Given the description of an element on the screen output the (x, y) to click on. 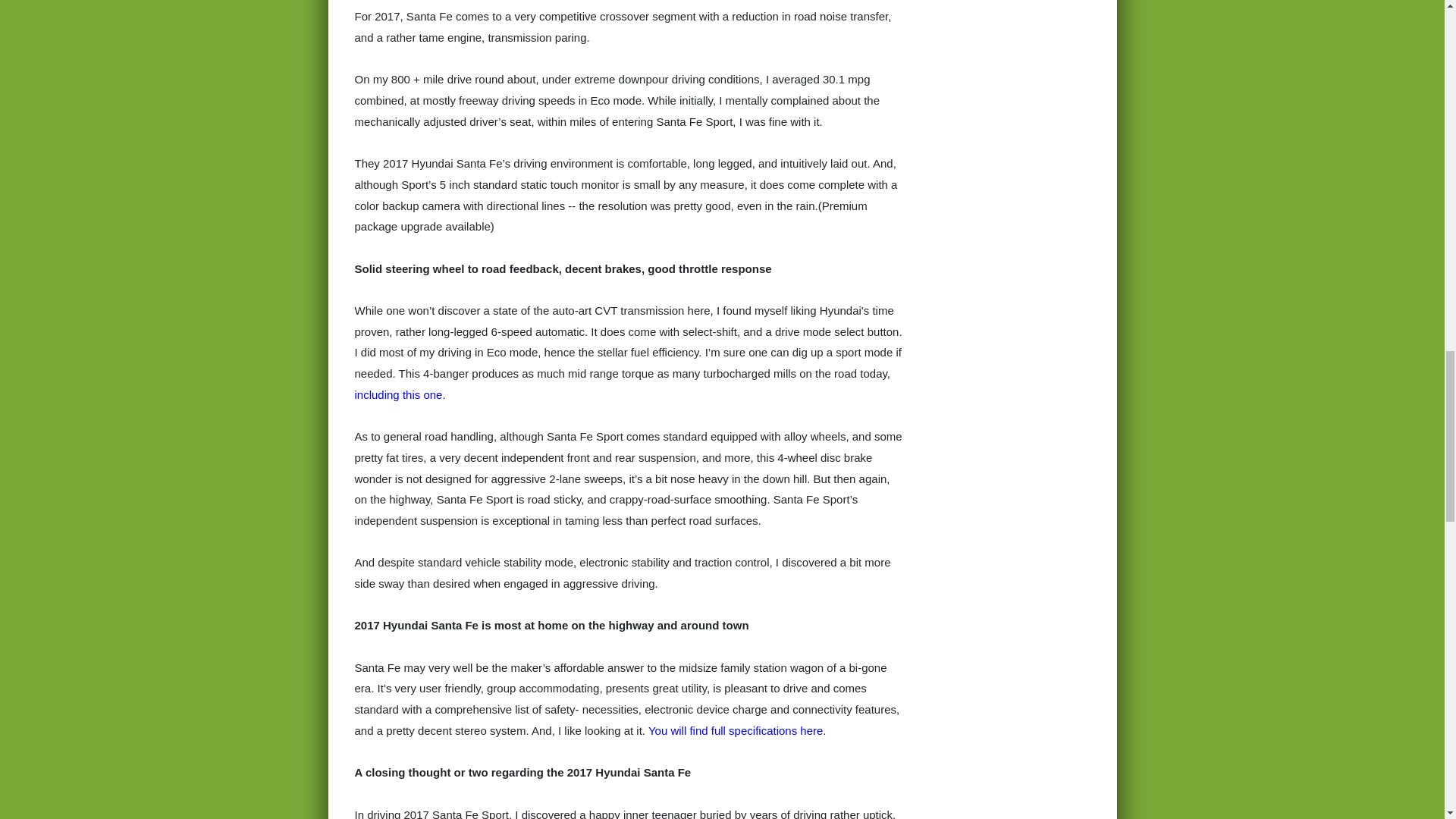
including this one (398, 394)
You will find full specifications here (734, 730)
